Given the description of an element on the screen output the (x, y) to click on. 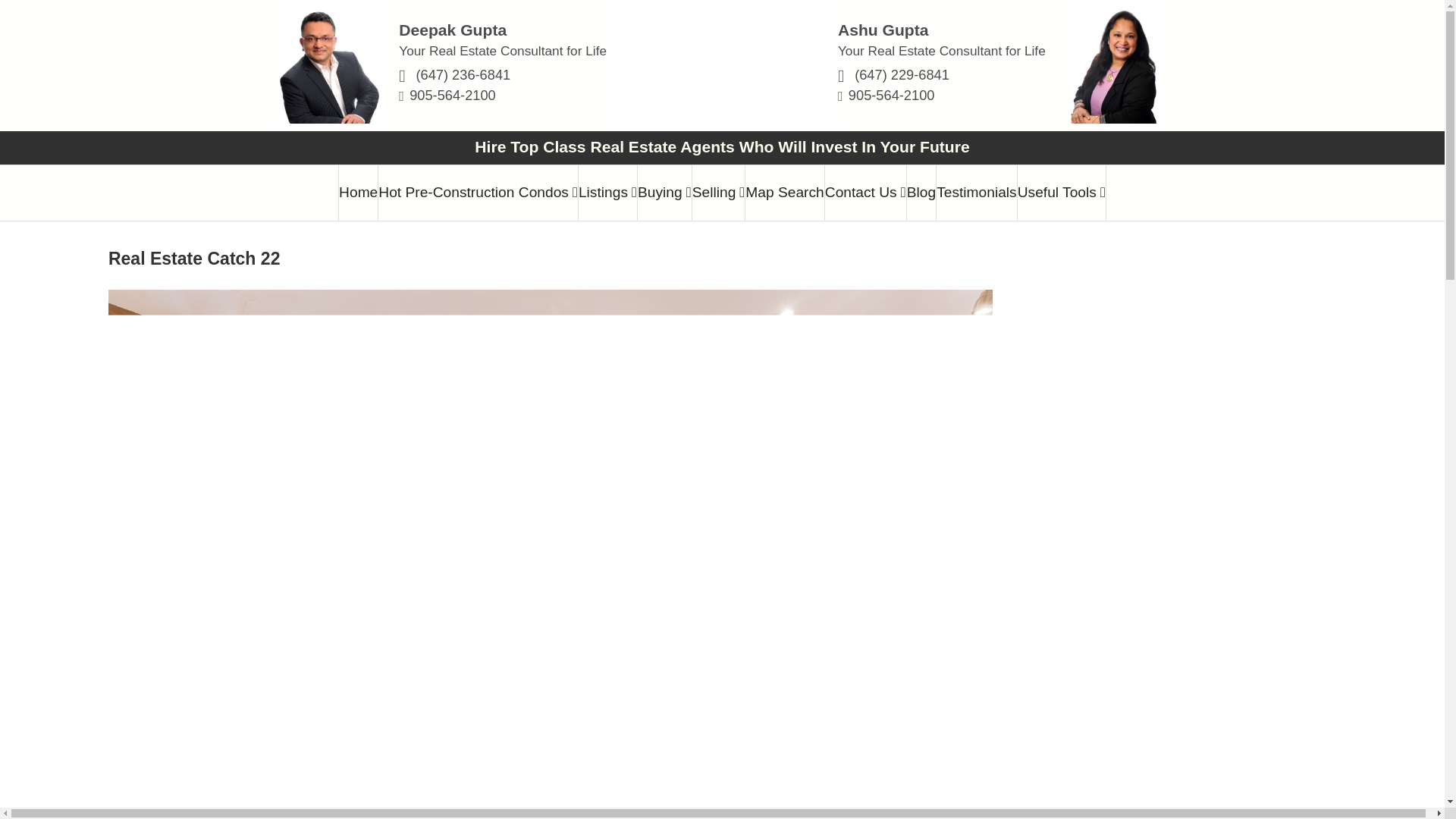
Buying (665, 192)
Buying (665, 192)
Hot Pre-Construction Condos (478, 192)
Listings (607, 192)
Listings (607, 192)
Selling (719, 192)
905-564-2100 (452, 94)
905-564-2100 (891, 94)
